Given the description of an element on the screen output the (x, y) to click on. 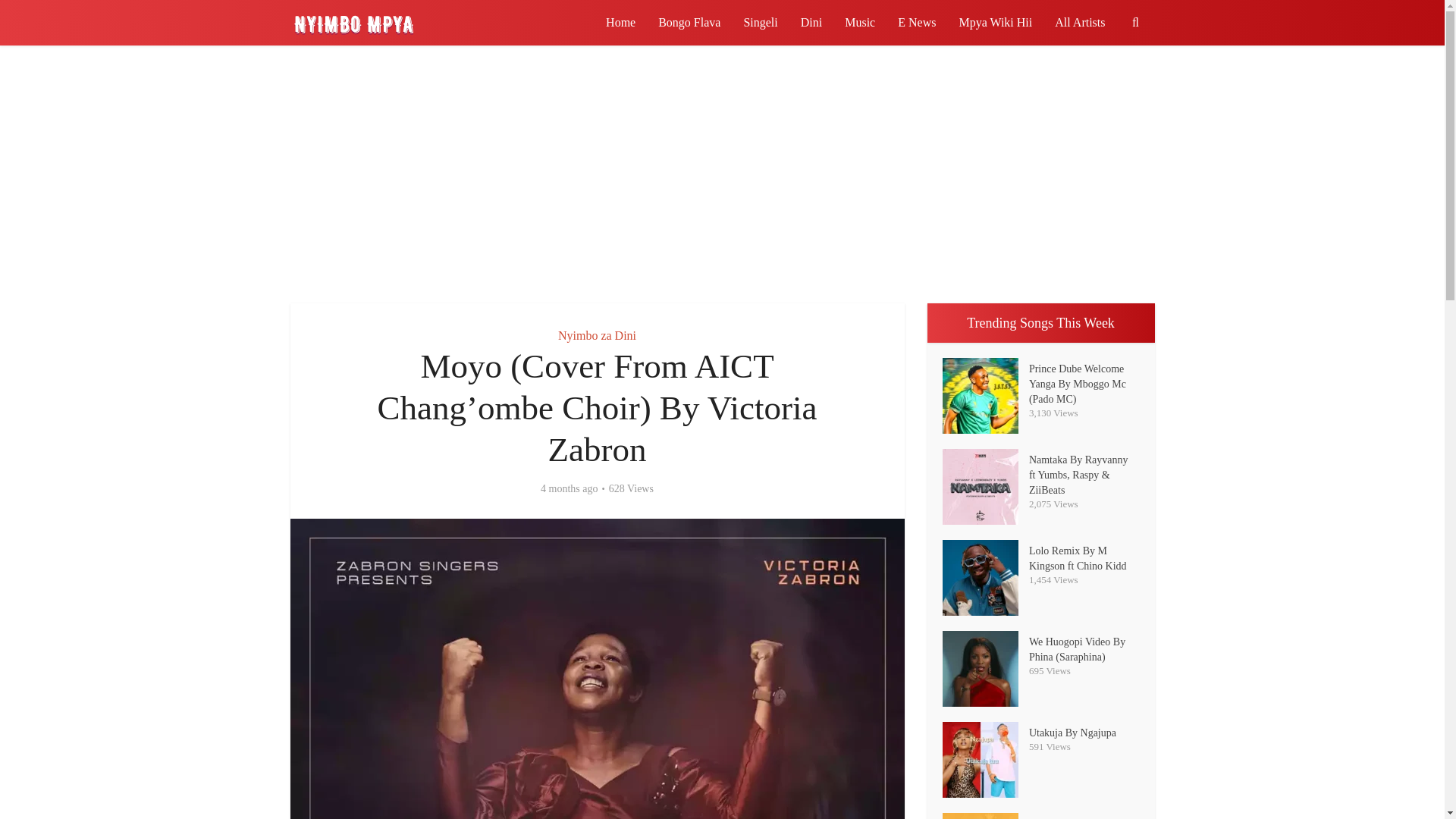
Mpya Wiki Hii (995, 22)
E News (916, 22)
Home (620, 22)
Singeli (760, 22)
All Artists (1079, 22)
Bongo Flava (689, 22)
Nyimbo za Dini (596, 335)
Advertisement (721, 173)
Music (859, 22)
Dini (810, 22)
